Given the description of an element on the screen output the (x, y) to click on. 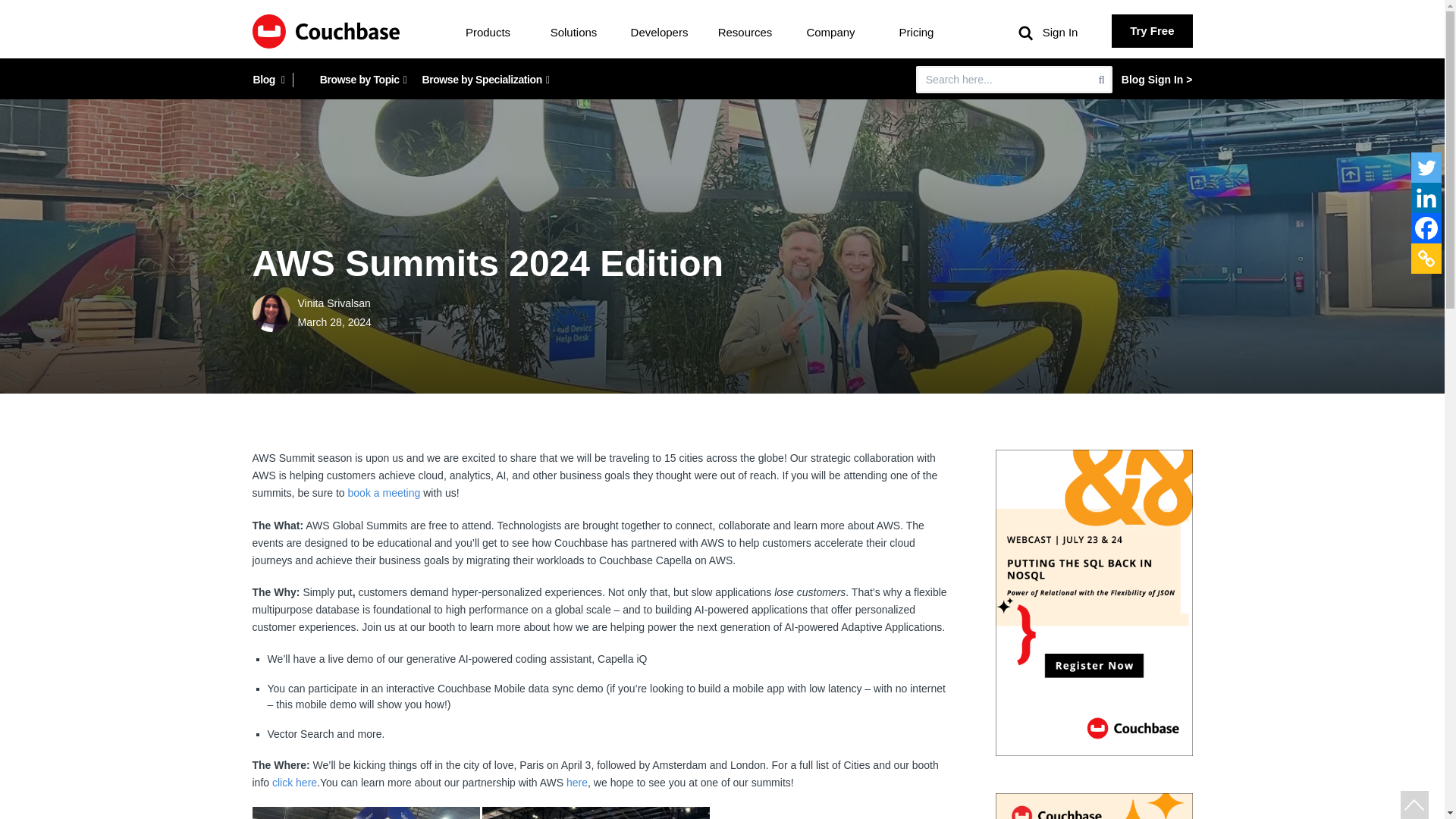
Twitter (1425, 167)
Solutions (573, 31)
Products (488, 31)
Linkedin (1425, 197)
Facebook (1425, 227)
Blog Sign In (1156, 79)
Copy Link (1425, 258)
Posts by Vinita Srivalsan (274, 313)
Developers (659, 31)
